Given the description of an element on the screen output the (x, y) to click on. 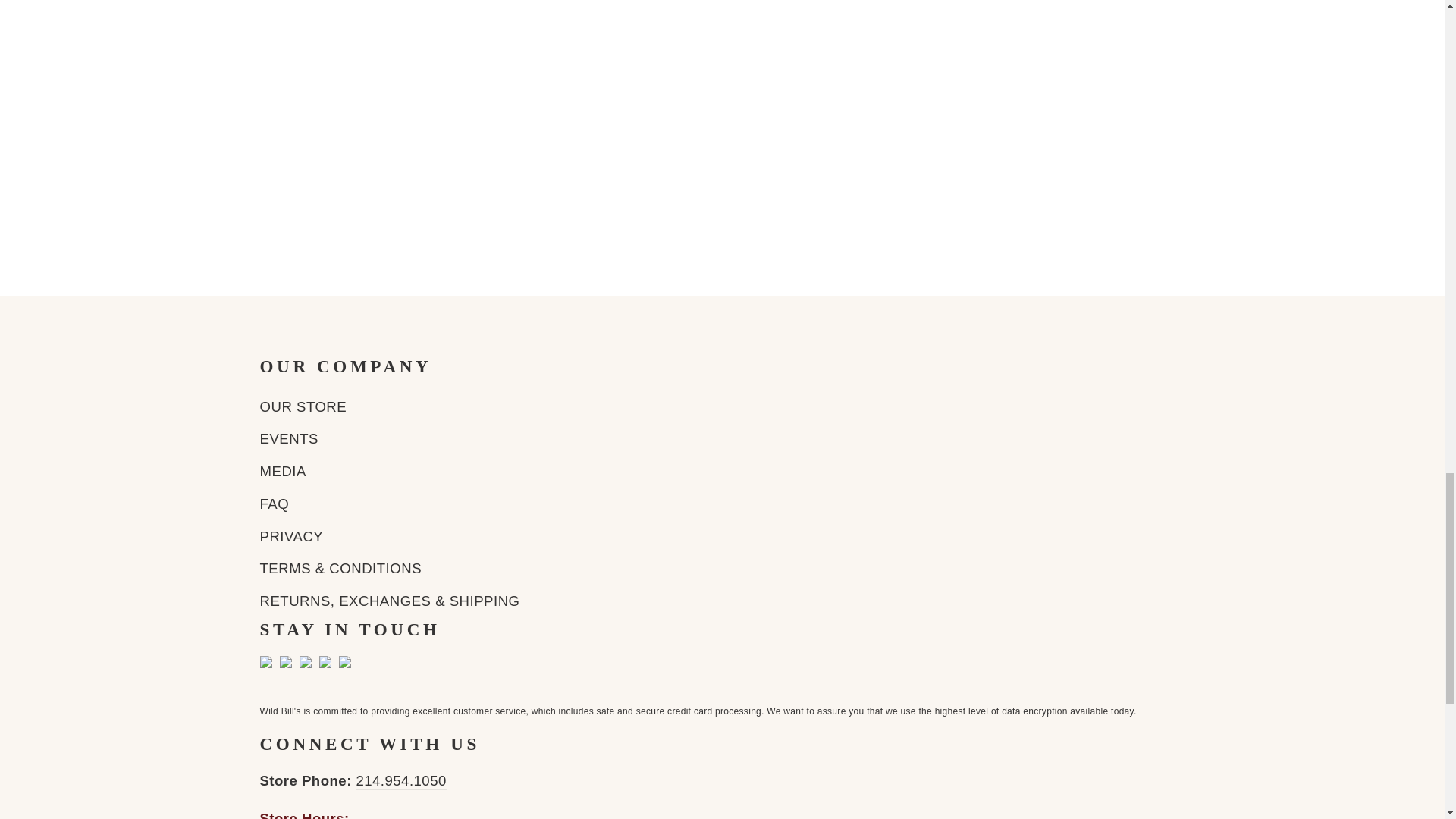
Trip Advisor (343, 661)
Instagram (304, 661)
Join us on Facebook (285, 661)
Yelp (324, 661)
